Given the description of an element on the screen output the (x, y) to click on. 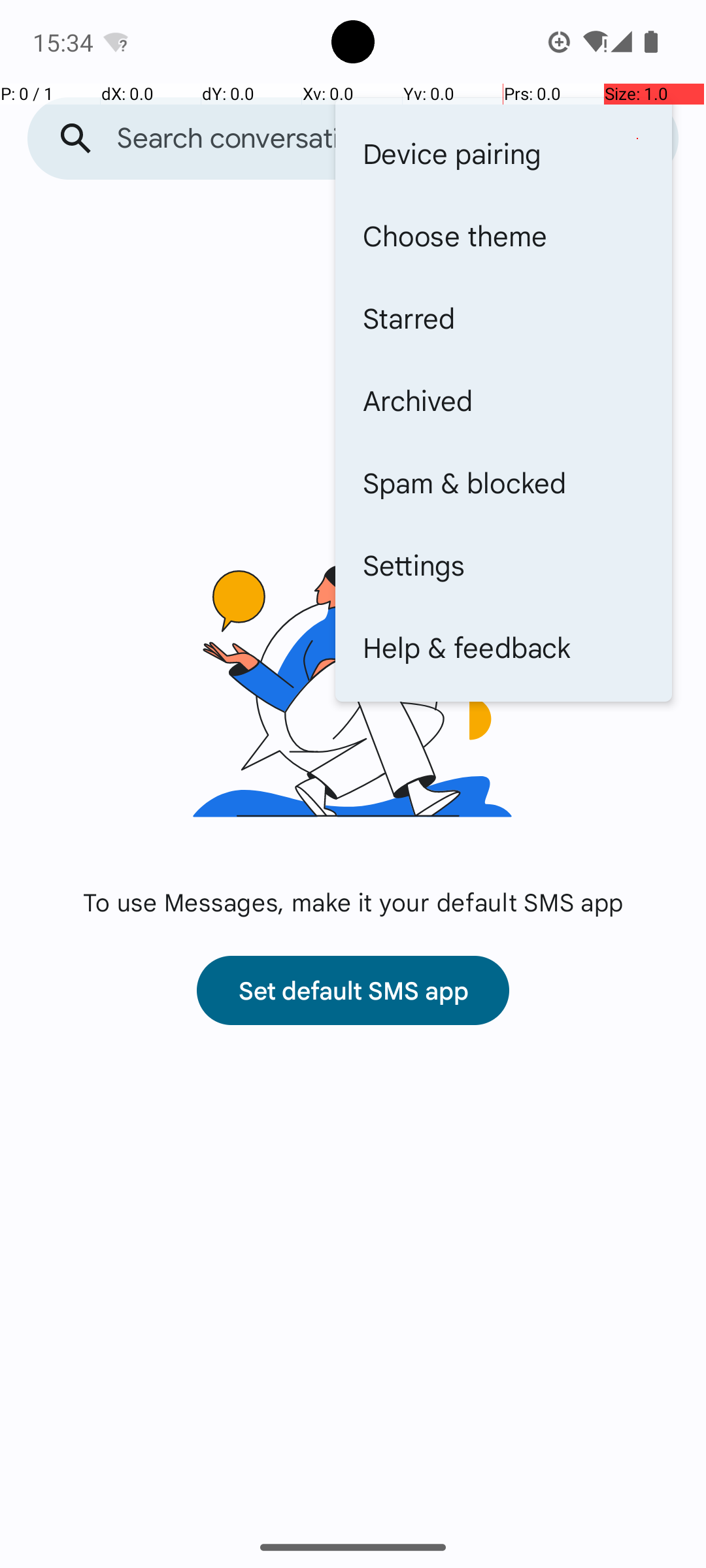
Device pairing Element type: android.widget.TextView (503, 152)
Choose theme Element type: android.widget.TextView (503, 234)
Starred Element type: android.widget.TextView (503, 317)
Archived Element type: android.widget.TextView (503, 399)
Spam & blocked Element type: android.widget.TextView (503, 481)
